Given the description of an element on the screen output the (x, y) to click on. 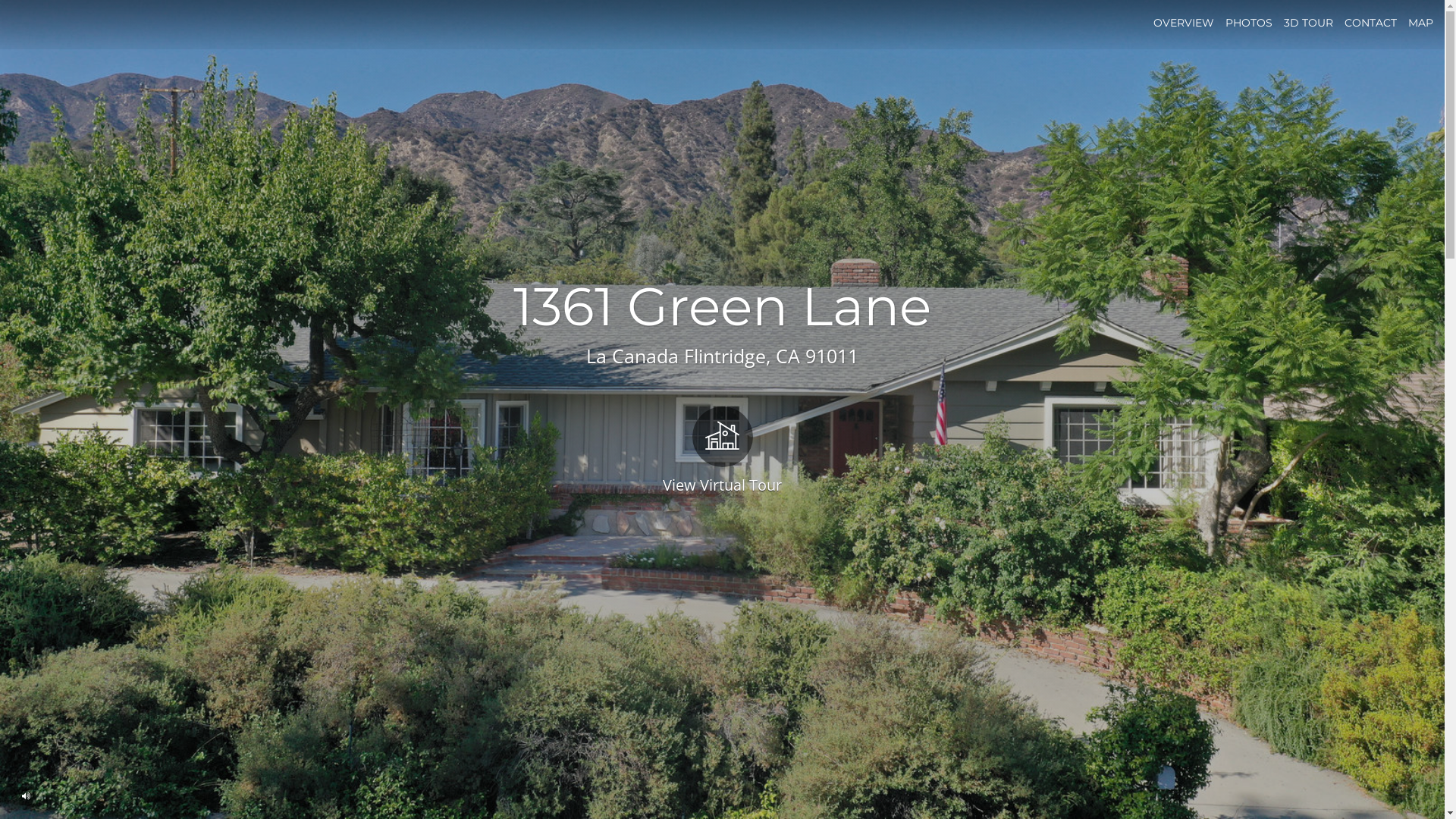
3D TOUR Element type: text (1308, 22)
OVERVIEW Element type: text (1183, 22)
PHOTOS Element type: text (1248, 22)
View Virtual Tour Element type: text (722, 448)
CONTACT Element type: text (1370, 22)
MAP Element type: text (1420, 22)
